Given the description of an element on the screen output the (x, y) to click on. 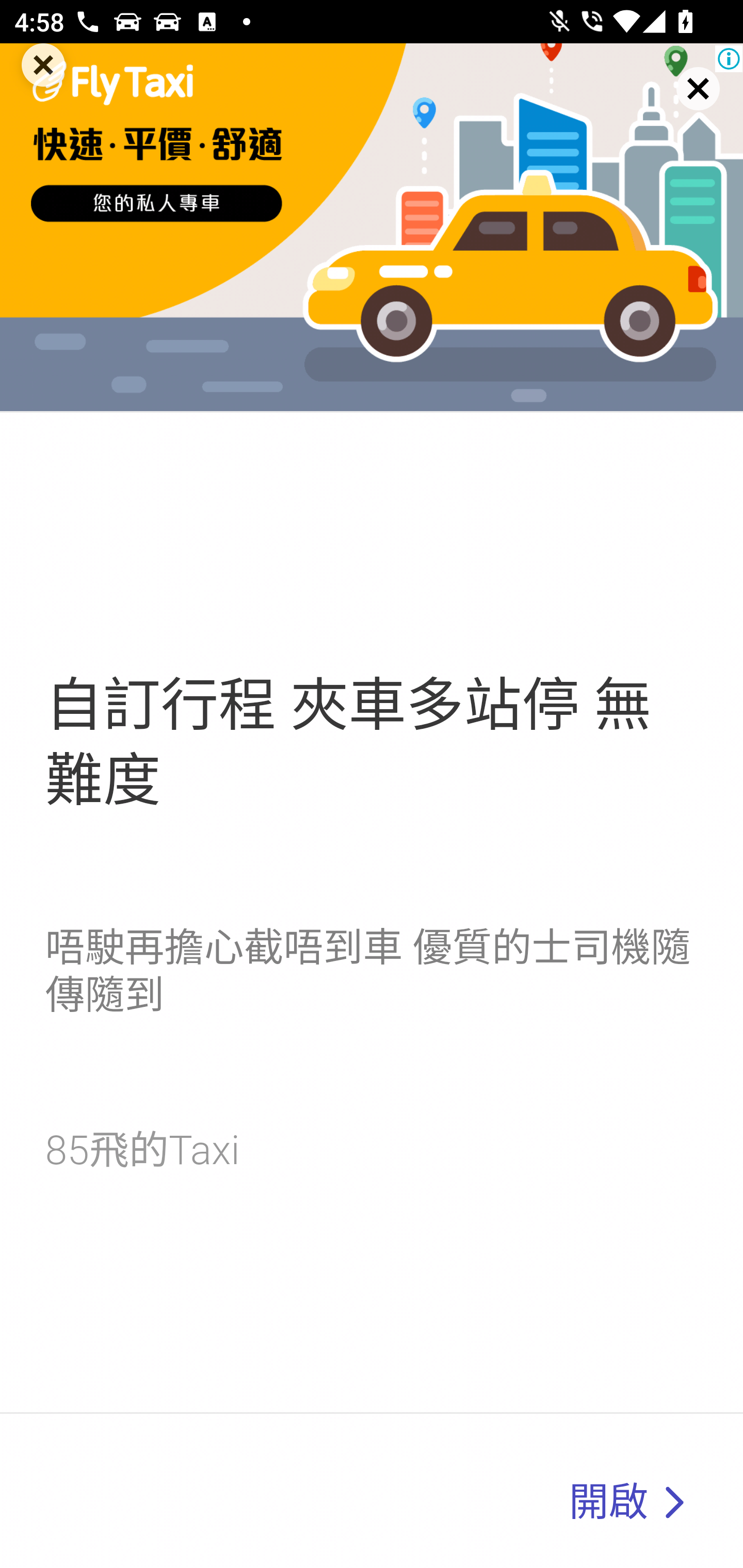
flytaxi.app (371, 226)
Interstitial close button (679, 106)
自訂行程 夾車多站停 無 難度 自訂行程 夾車多站停 無 難度 (348, 743)
唔駛再擔心截唔到車 優質的士司機隨 傳隨到 唔駛再擔心截唔到車 優質的士司機隨 傳隨到 (367, 971)
85飛的Taxi (141, 1149)
flytaxi.app (673, 1502)
開啟 (608, 1502)
